Given the description of an element on the screen output the (x, y) to click on. 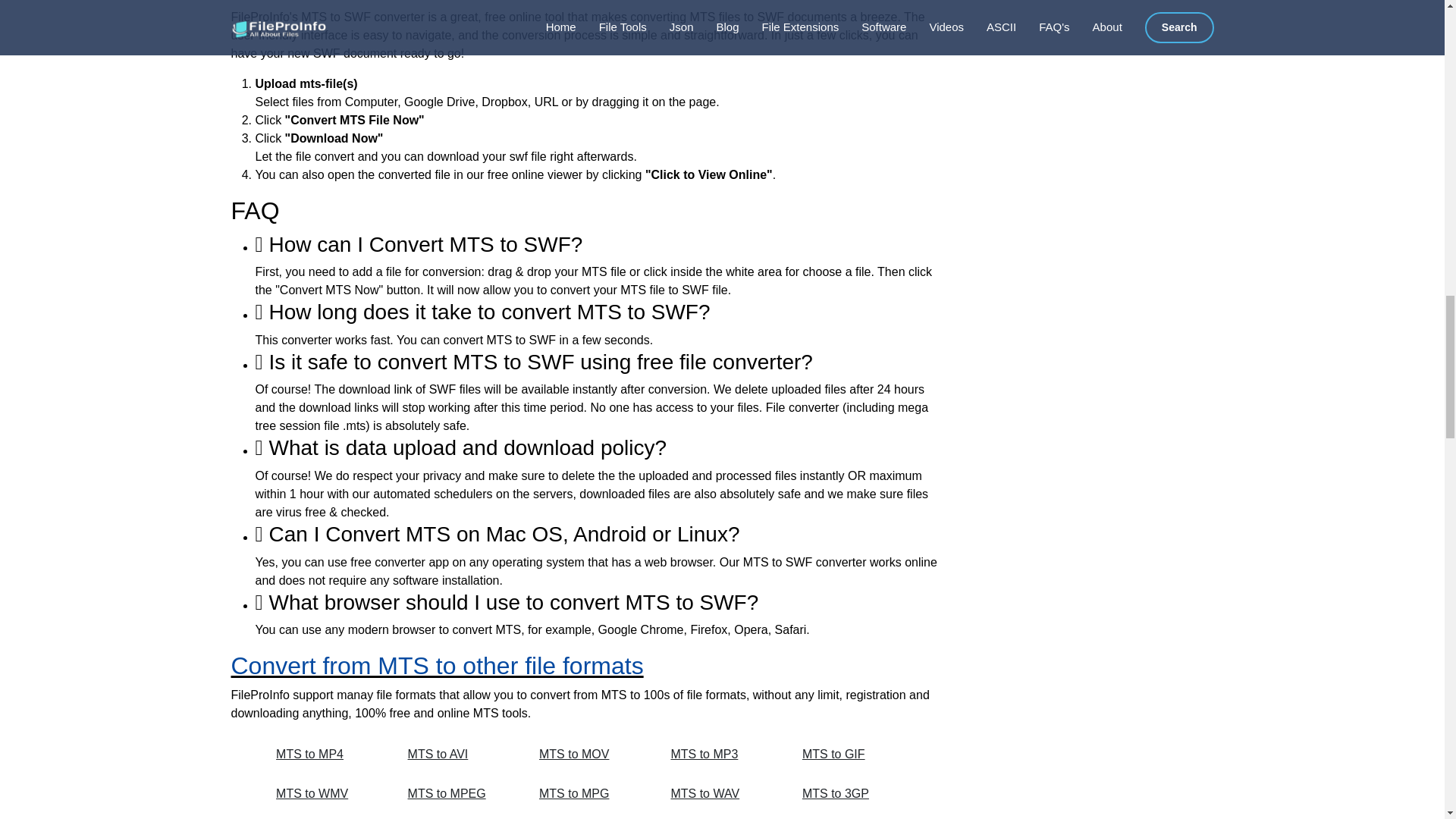
MTS to AVI (456, 754)
MTS to MPEG (456, 793)
MTS to MP3 (719, 754)
MTS to MP4 (325, 754)
MTS to MOV (587, 754)
MTS to WMV (325, 793)
Convert from MTS to other file formats (436, 665)
MTS to GIF (851, 754)
